Given the description of an element on the screen output the (x, y) to click on. 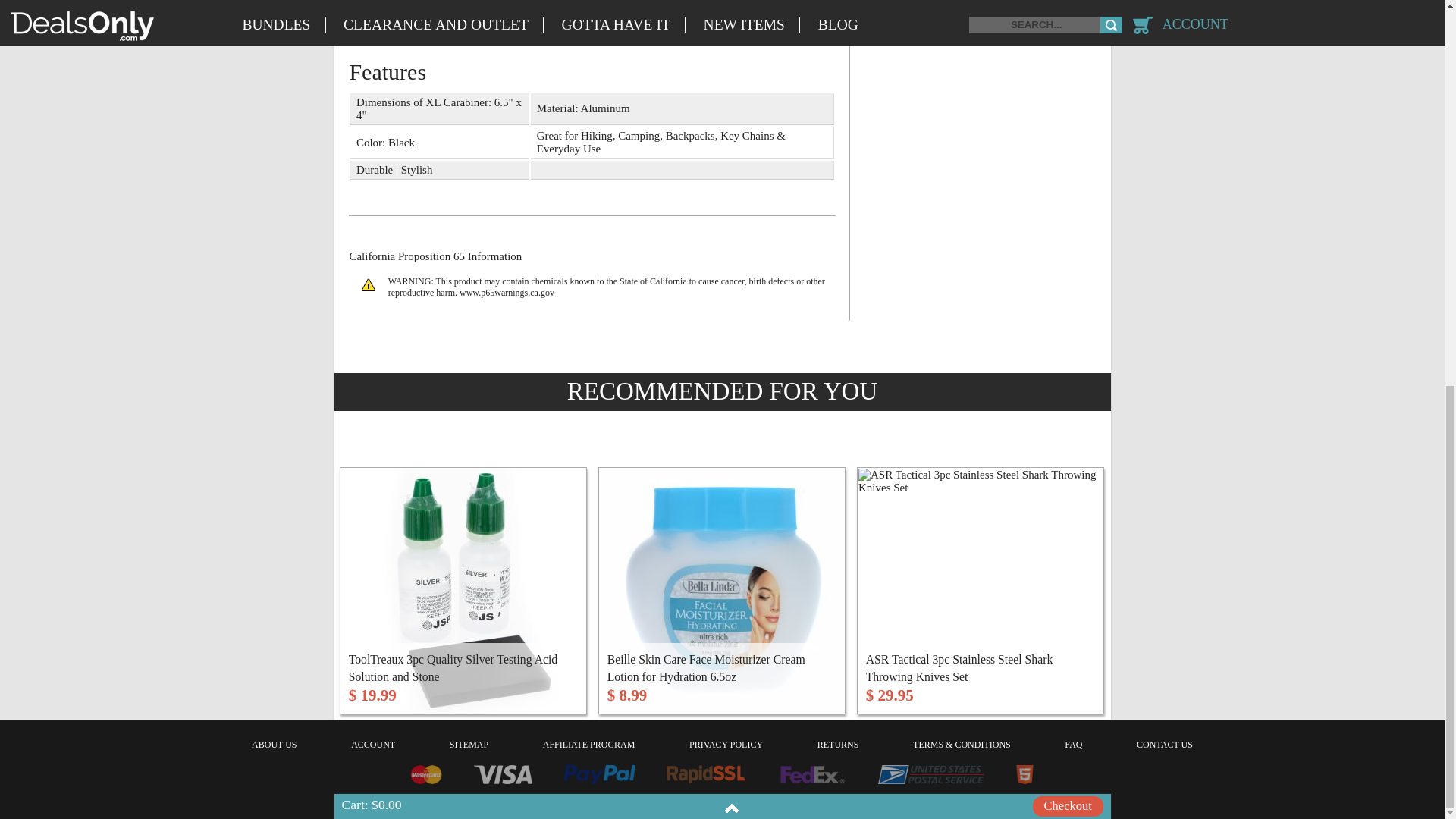
ACCOUNT (372, 744)
RETURNS (837, 744)
www.p65warnings.ca.gov (507, 292)
Add to Cart (1035, 696)
Add to Cart (518, 696)
Add to Cart (777, 696)
AFFILIATE PROGRAM (588, 744)
SITEMAP (468, 744)
ABOUT US (274, 744)
